Given the description of an element on the screen output the (x, y) to click on. 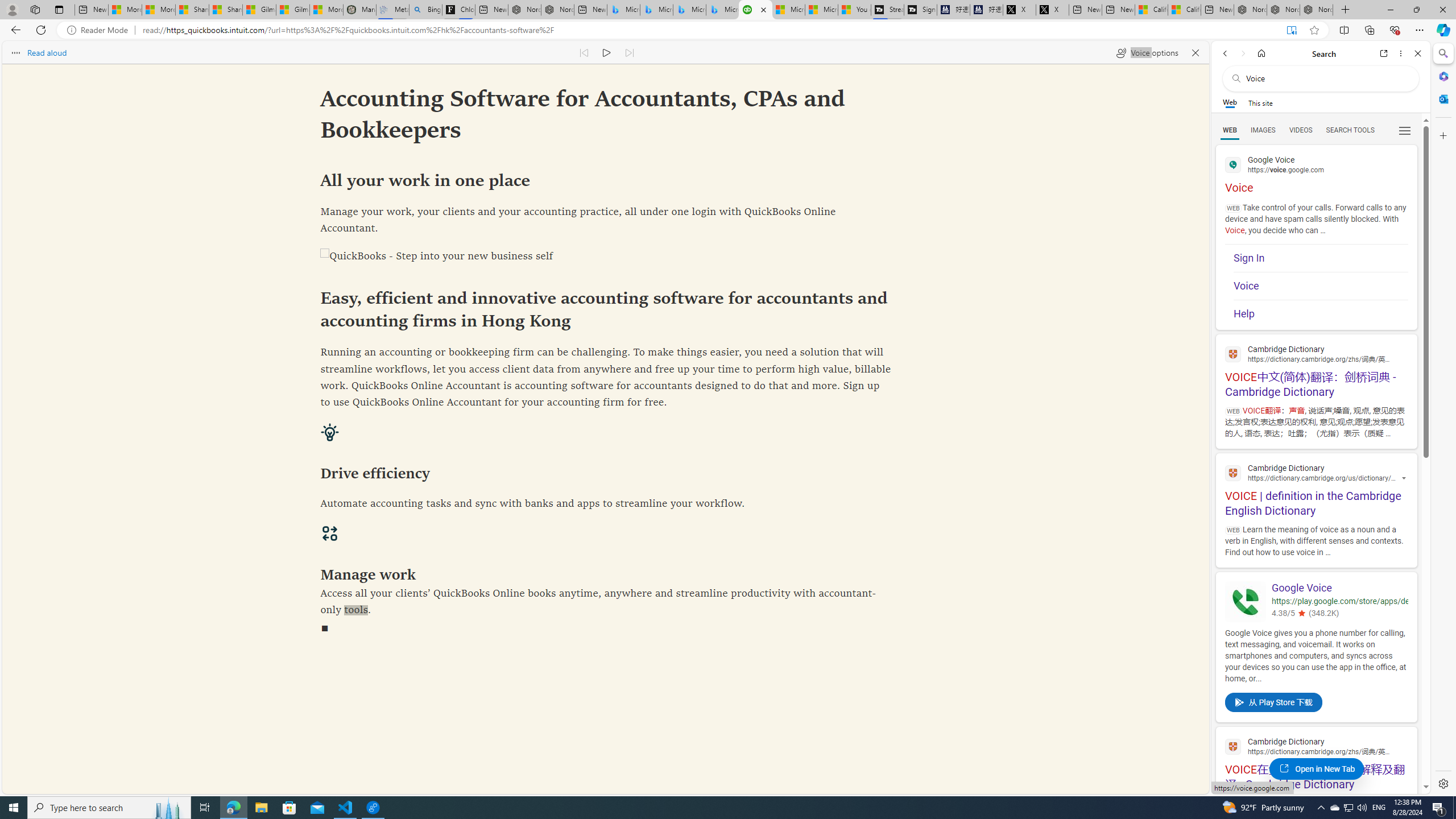
Read previous paragraph (583, 52)
Exit Immersive Reader (F9) (1291, 29)
Gilma and Hector both pose tropical trouble for Hawaii (292, 9)
QuickBooks - Step into your new business self (605, 256)
Close read aloud (1195, 52)
Outlook (1442, 98)
Microsoft Bing Travel - Shangri-La Hotel Bangkok (722, 9)
Customize (1442, 135)
